Given the description of an element on the screen output the (x, y) to click on. 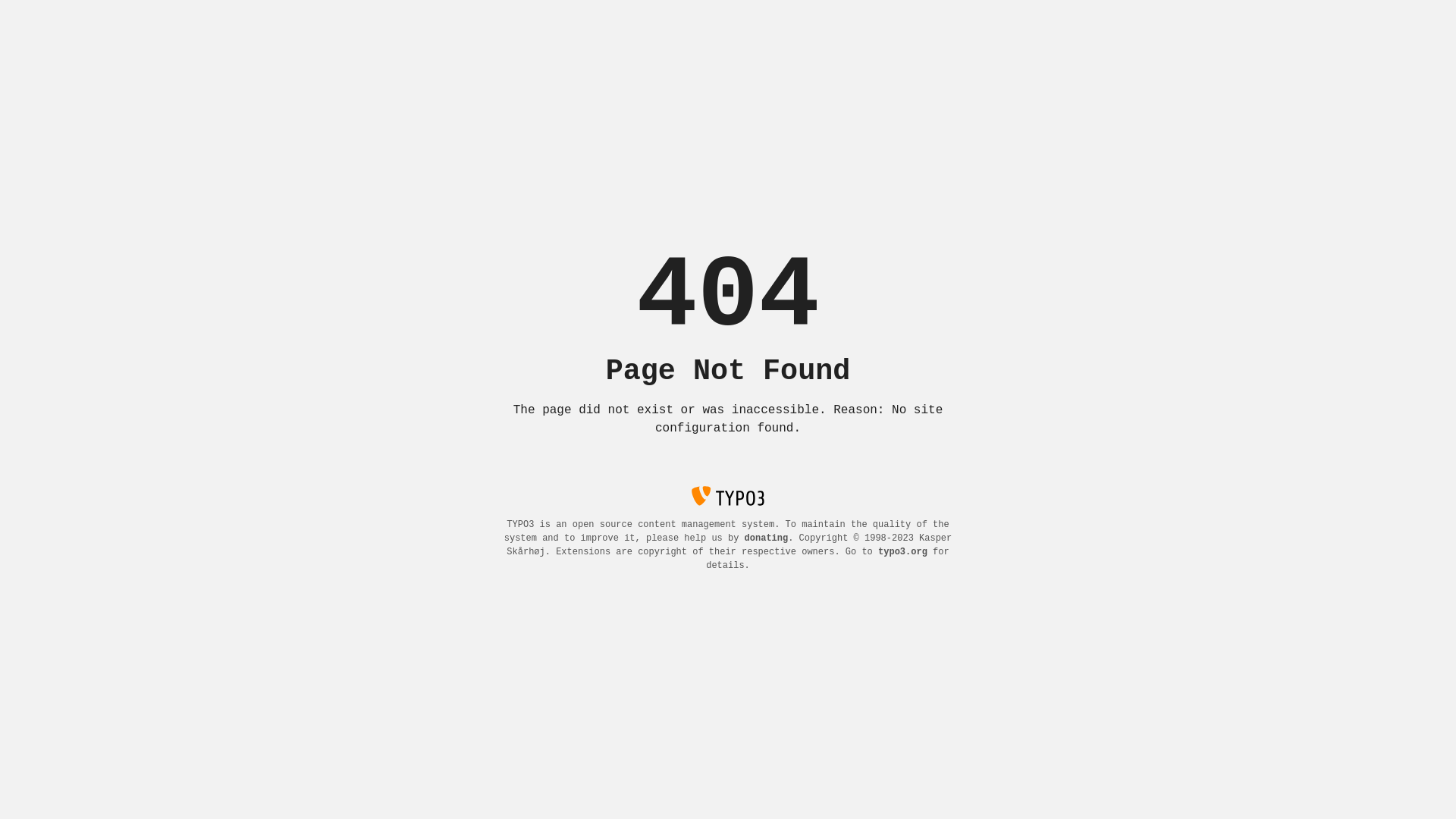
donating Element type: text (766, 538)
typo3.org Element type: text (902, 551)
